Given the description of an element on the screen output the (x, y) to click on. 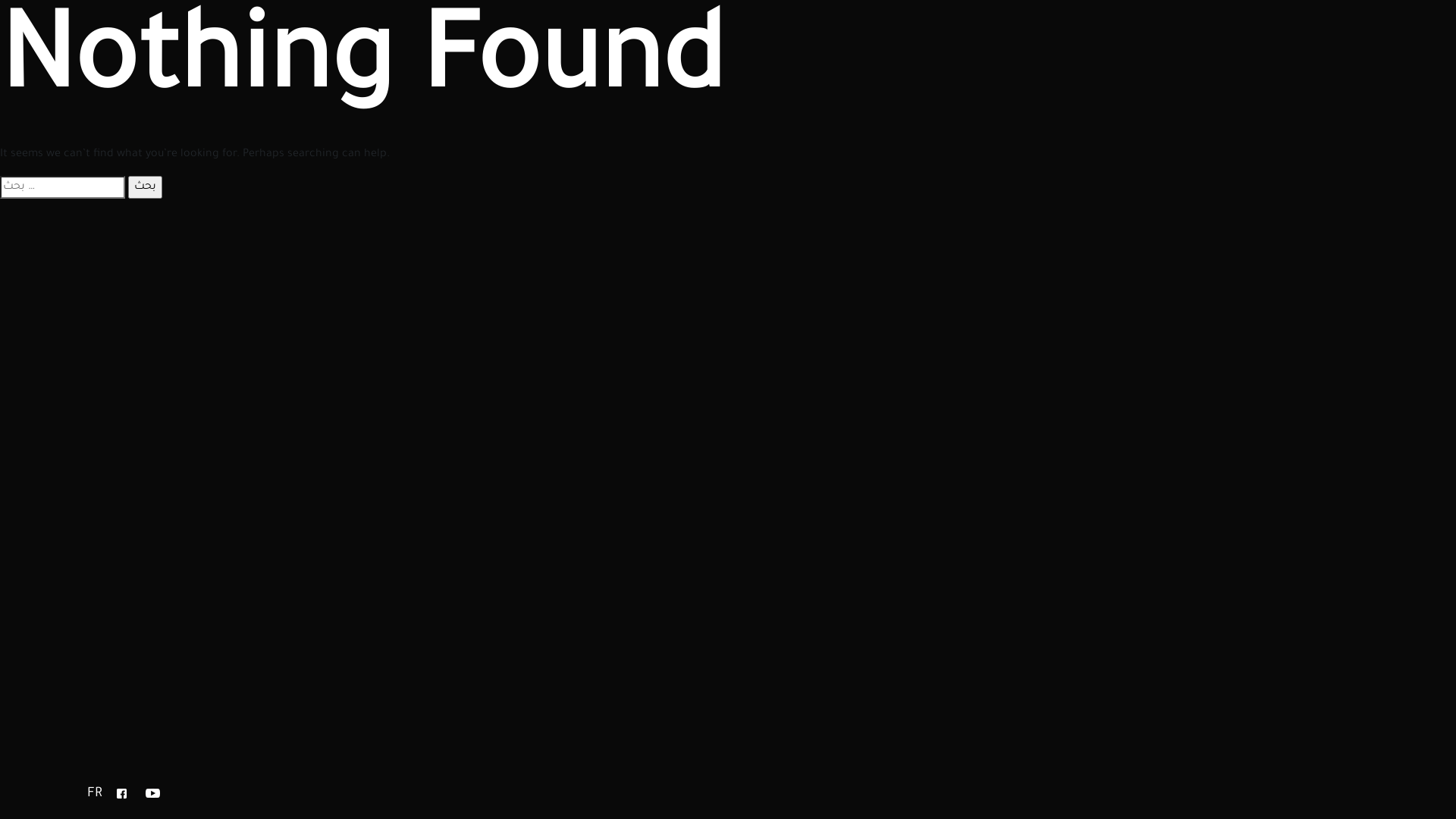
FR Element type: text (94, 794)
